Given the description of an element on the screen output the (x, y) to click on. 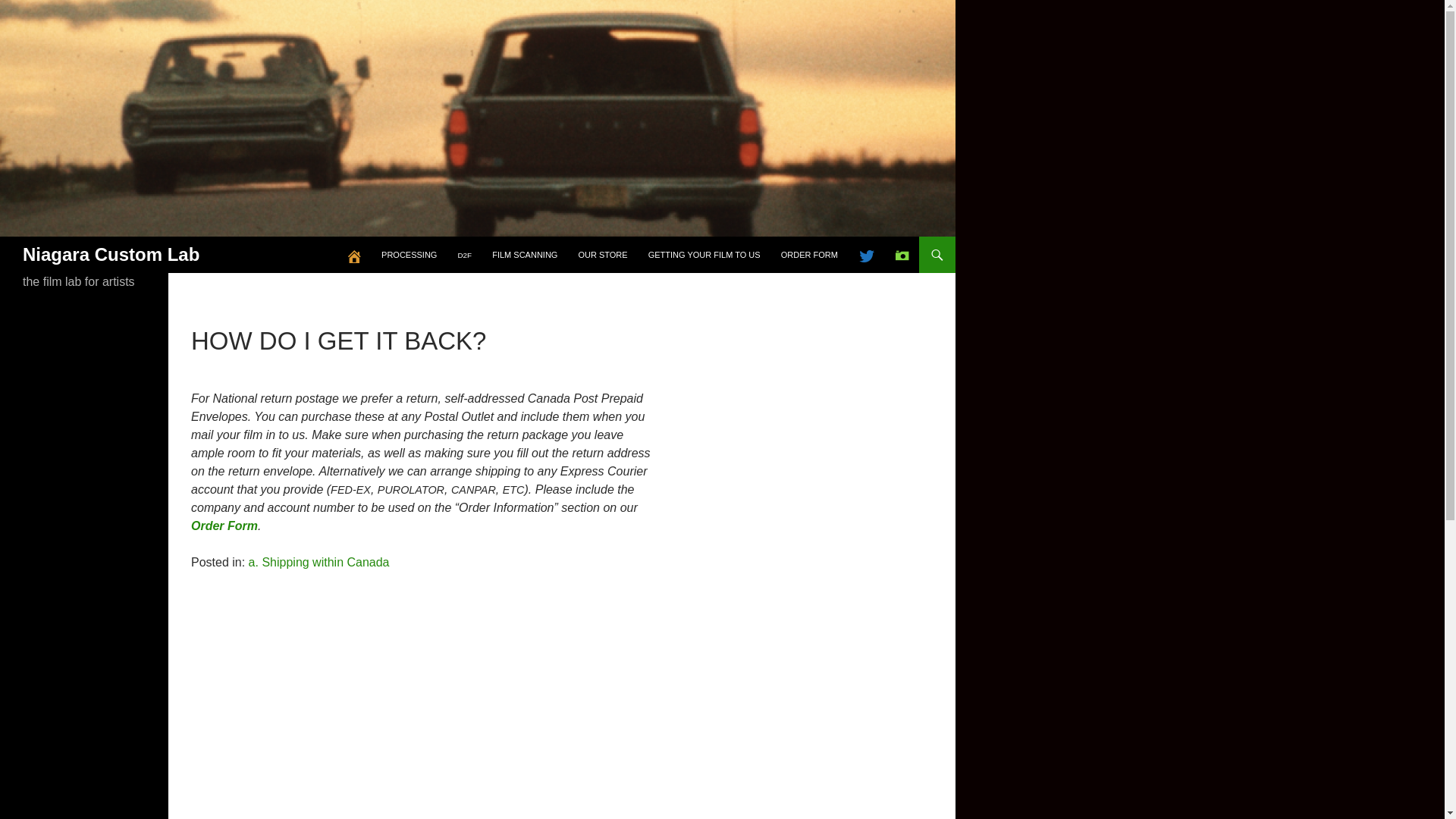
D2F (464, 254)
FILM SCANNING (524, 254)
PROCESSING (408, 254)
ORDER FORM (809, 254)
OUR STORE (602, 254)
Order Form (223, 525)
Niagara Custom Lab (111, 254)
GETTING YOUR FILM TO US (704, 254)
